Given the description of an element on the screen output the (x, y) to click on. 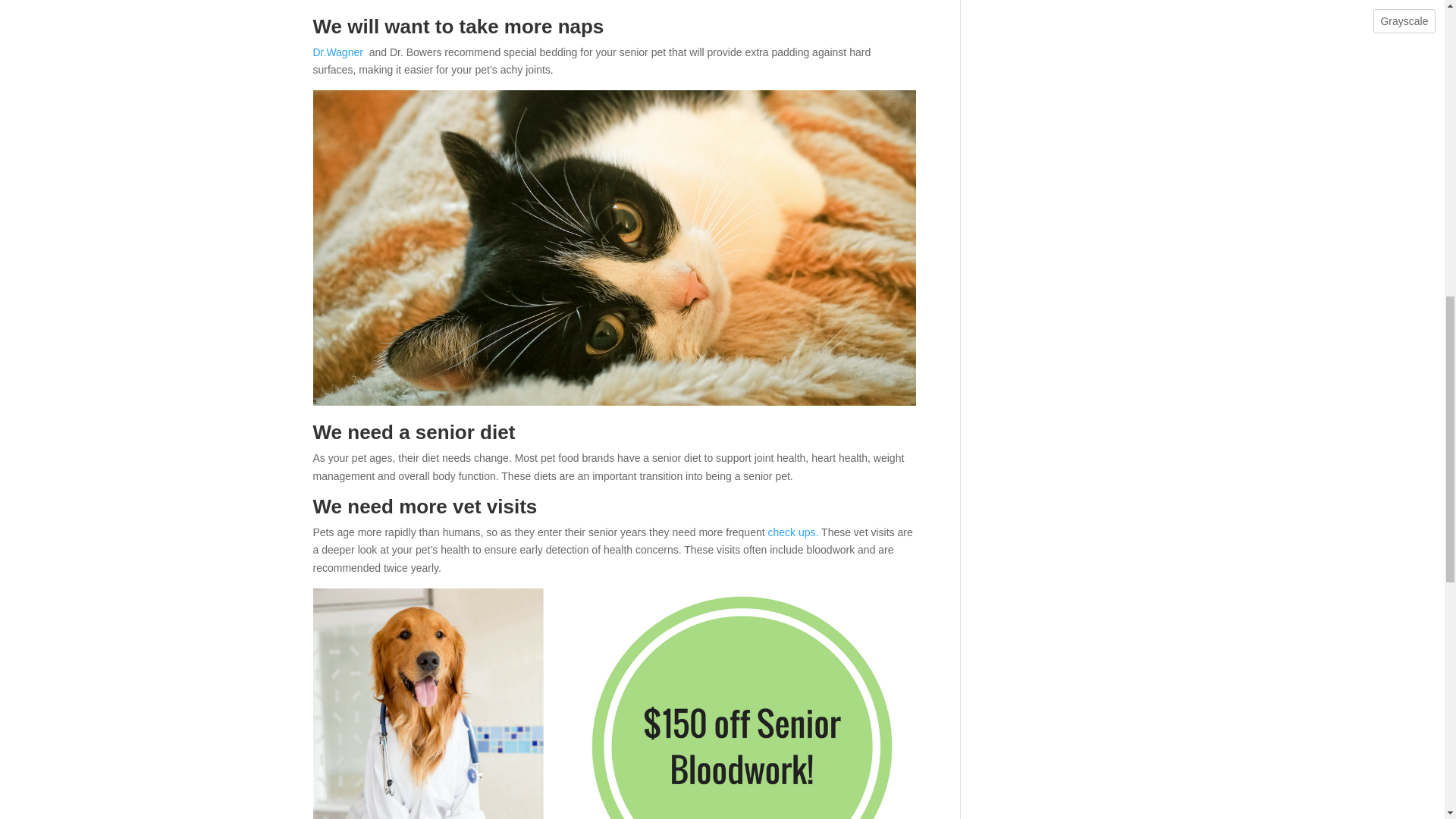
Wagner (344, 51)
Dr. (319, 51)
check ups. (792, 532)
